Given the description of an element on the screen output the (x, y) to click on. 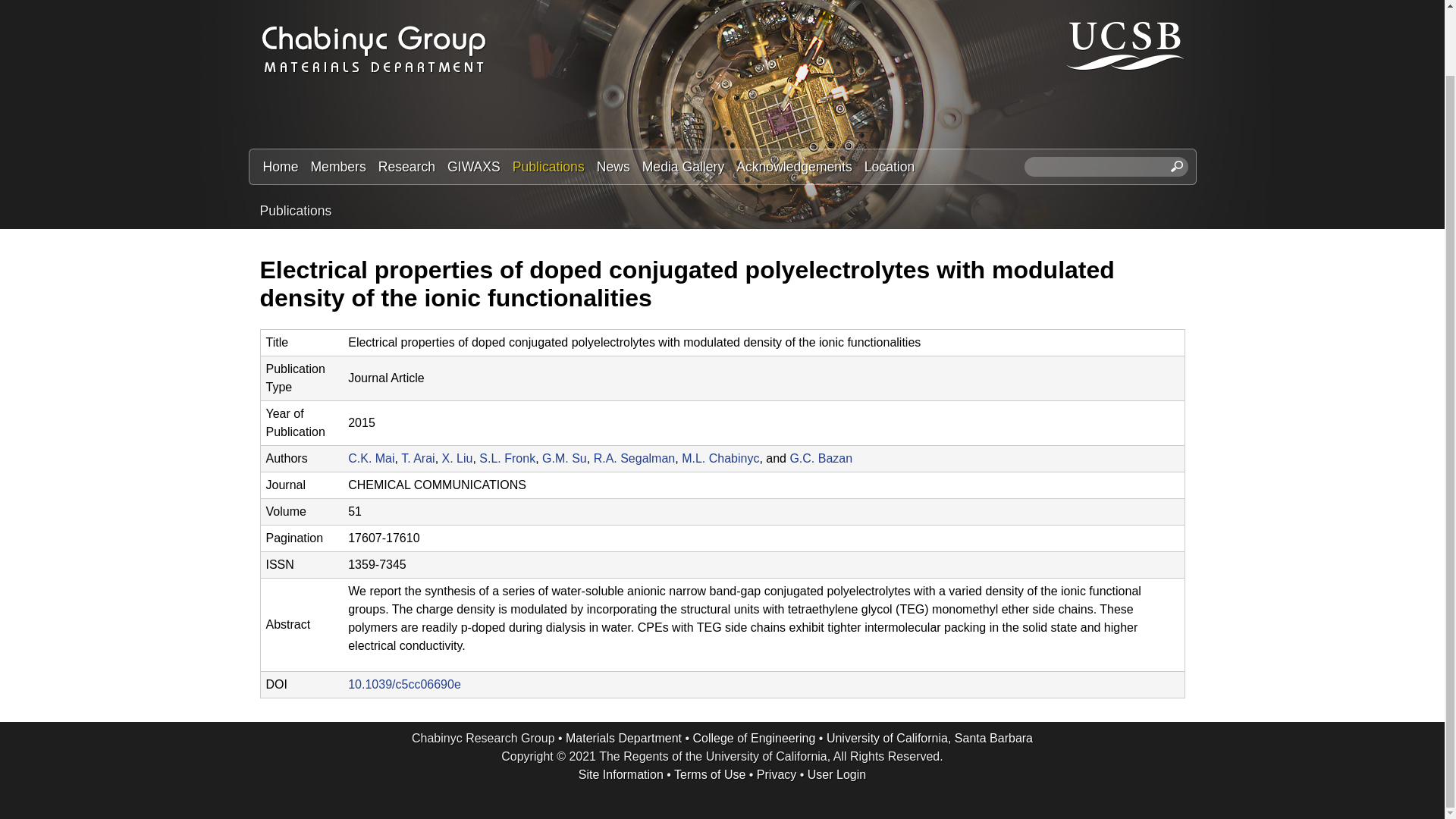
College of Engineering (754, 738)
C.K. Mai (370, 458)
Enter the terms you wish to search for. (1105, 166)
University of California, Santa Barbara (929, 738)
Publications (295, 210)
S.L. Fronk (507, 458)
Media Gallery (683, 166)
Research (406, 166)
Home (280, 166)
X. Liu (457, 458)
Acknowledgements (794, 166)
Privacy (776, 774)
User Login (837, 774)
M.L. Chabinyc (719, 458)
G.C. Bazan (820, 458)
